Given the description of an element on the screen output the (x, y) to click on. 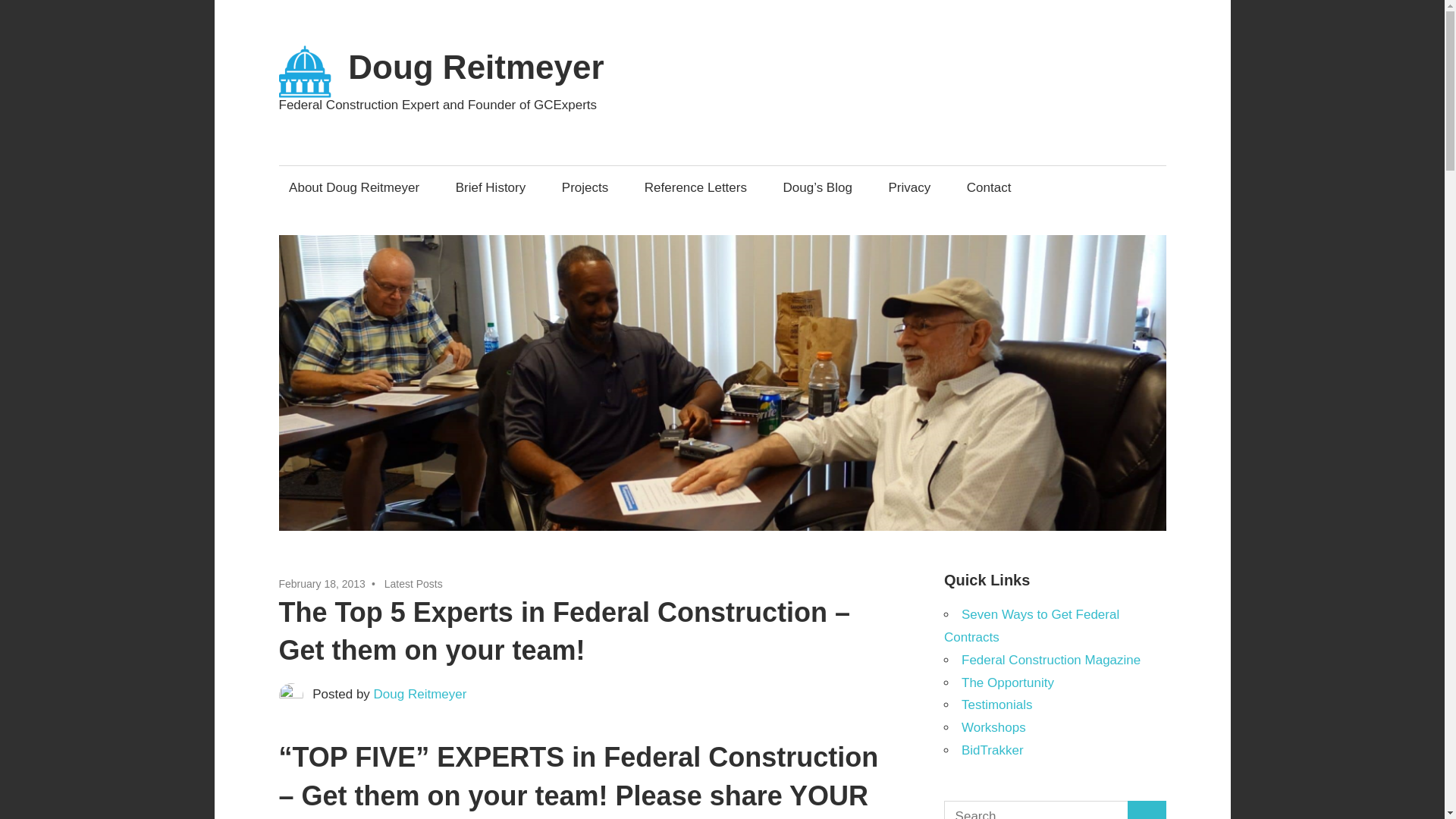
Doug Reitmeyer (420, 694)
Contact (989, 187)
Latest Posts (413, 583)
About Doug Reitmeyer (354, 187)
View all posts by Doug Reitmeyer (420, 694)
Doug Reitmeyer (475, 66)
Brief History (490, 187)
9:23 pm (322, 583)
Search for: (1035, 809)
February 18, 2013 (322, 583)
Privacy (908, 187)
Projects (584, 187)
Reference Letters (695, 187)
